Given the description of an element on the screen output the (x, y) to click on. 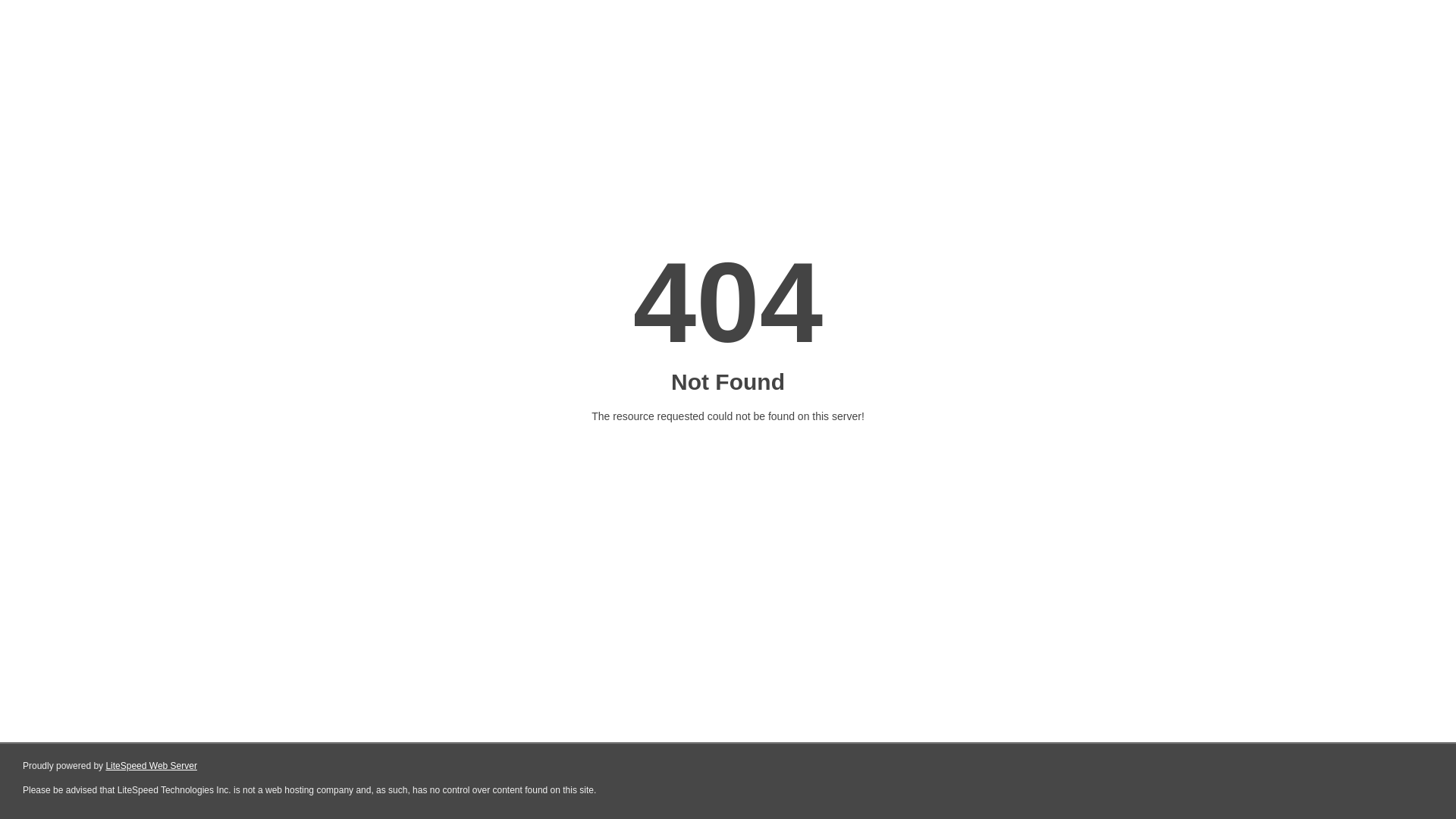
LiteSpeed Web Server Element type: text (151, 765)
